Given the description of an element on the screen output the (x, y) to click on. 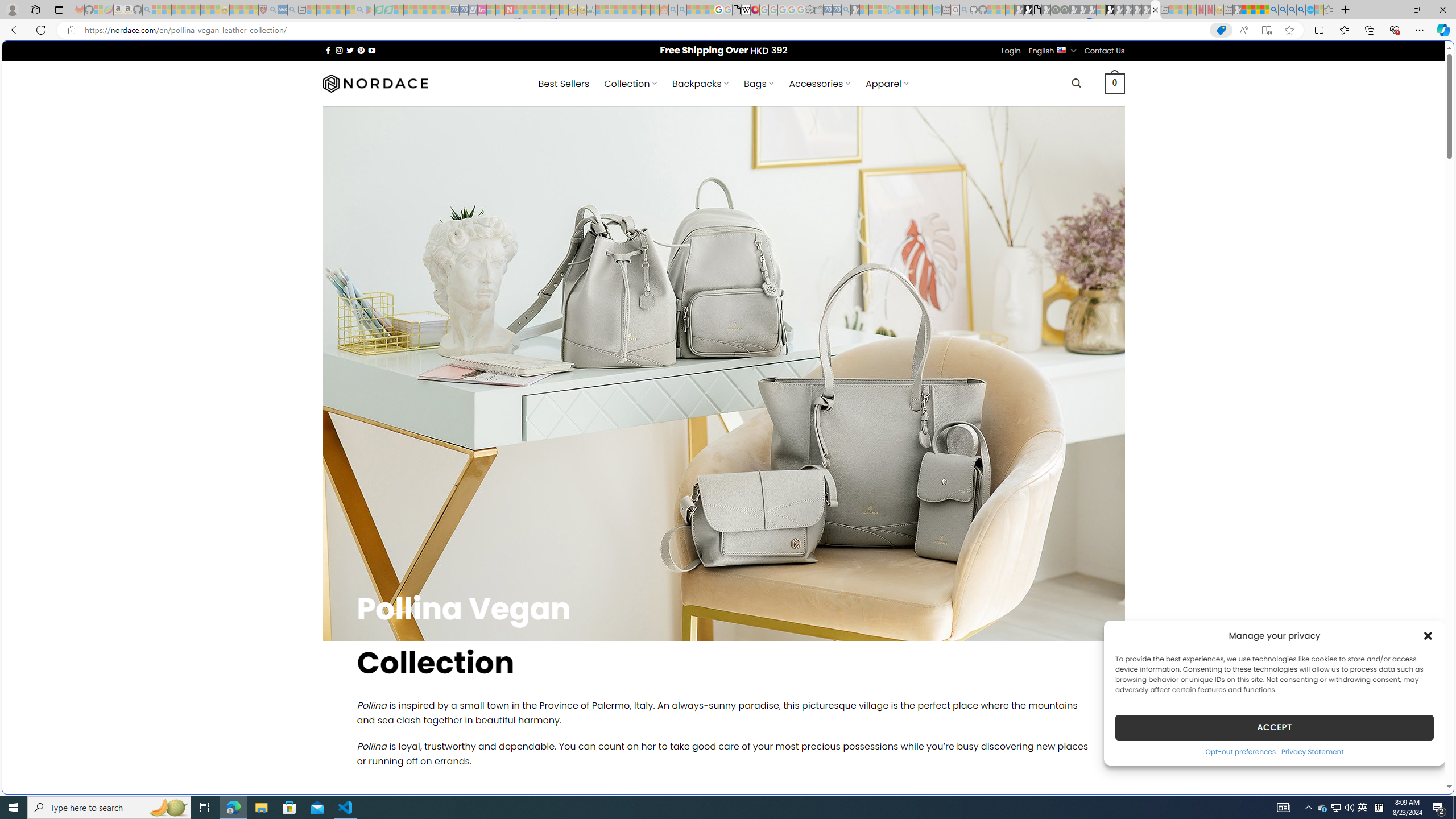
Services - Maintenance | Sky Blue Bikes - Sky Blue Bikes (1309, 9)
utah sues federal government - Search (922, 389)
Cheap Hotels - Save70.com - Sleeping (463, 9)
DITOGAMES AG Imprint - Sleeping (590, 9)
Opt-out preferences (1240, 750)
Play Zoo Boom in your browser | Games from Microsoft Start (1027, 9)
Microsoft-Report a Concern to Bing - Sleeping (98, 9)
Nordace - Pollina Vegan Leather Collection (1154, 9)
Privacy Statement (1312, 750)
